Given the description of an element on the screen output the (x, y) to click on. 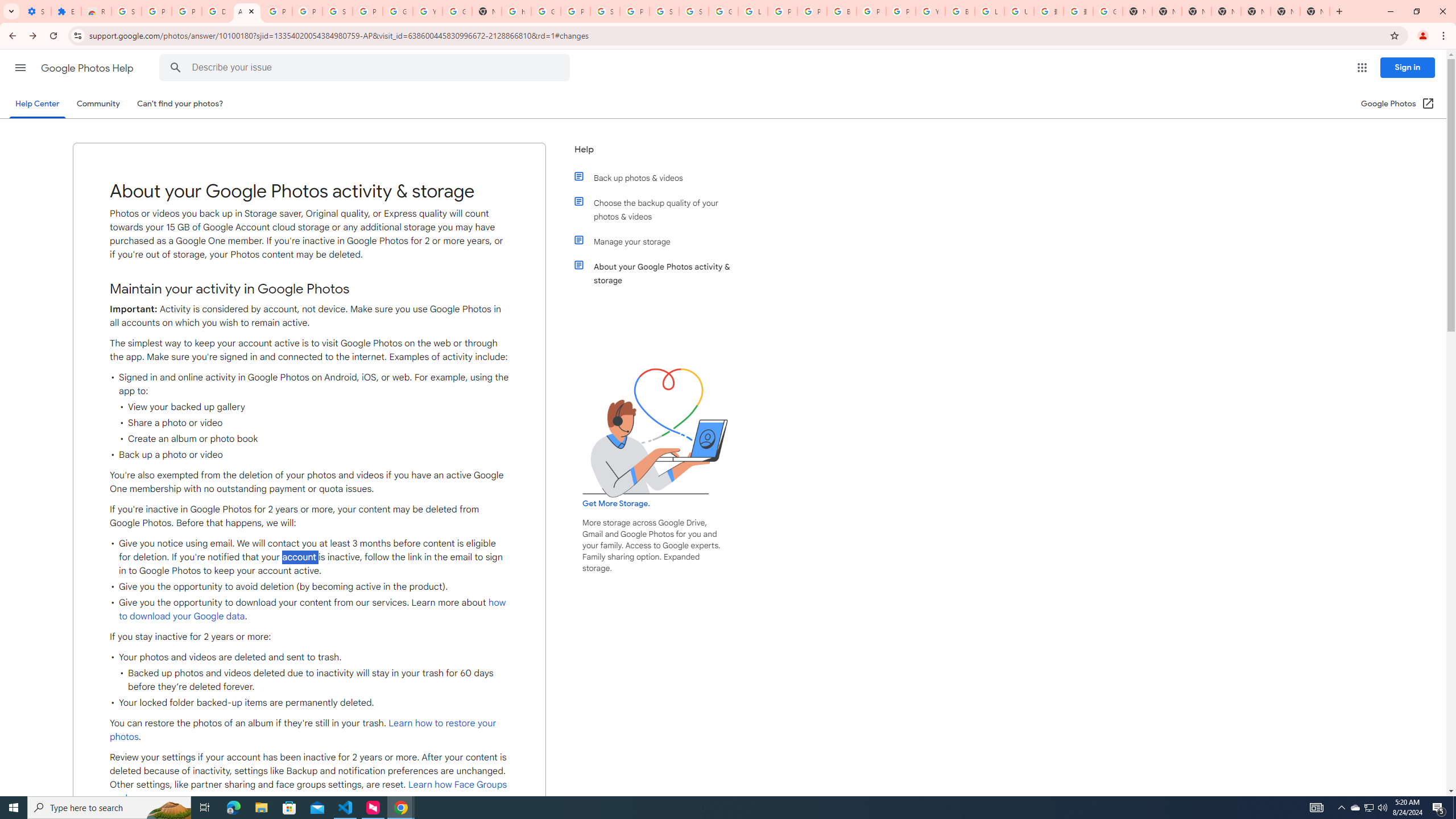
Google Photos Help (87, 68)
https://scholar.google.com/ (515, 11)
Get More Storage. (615, 503)
Choose the backup quality of your photos & videos (661, 209)
